Given the description of an element on the screen output the (x, y) to click on. 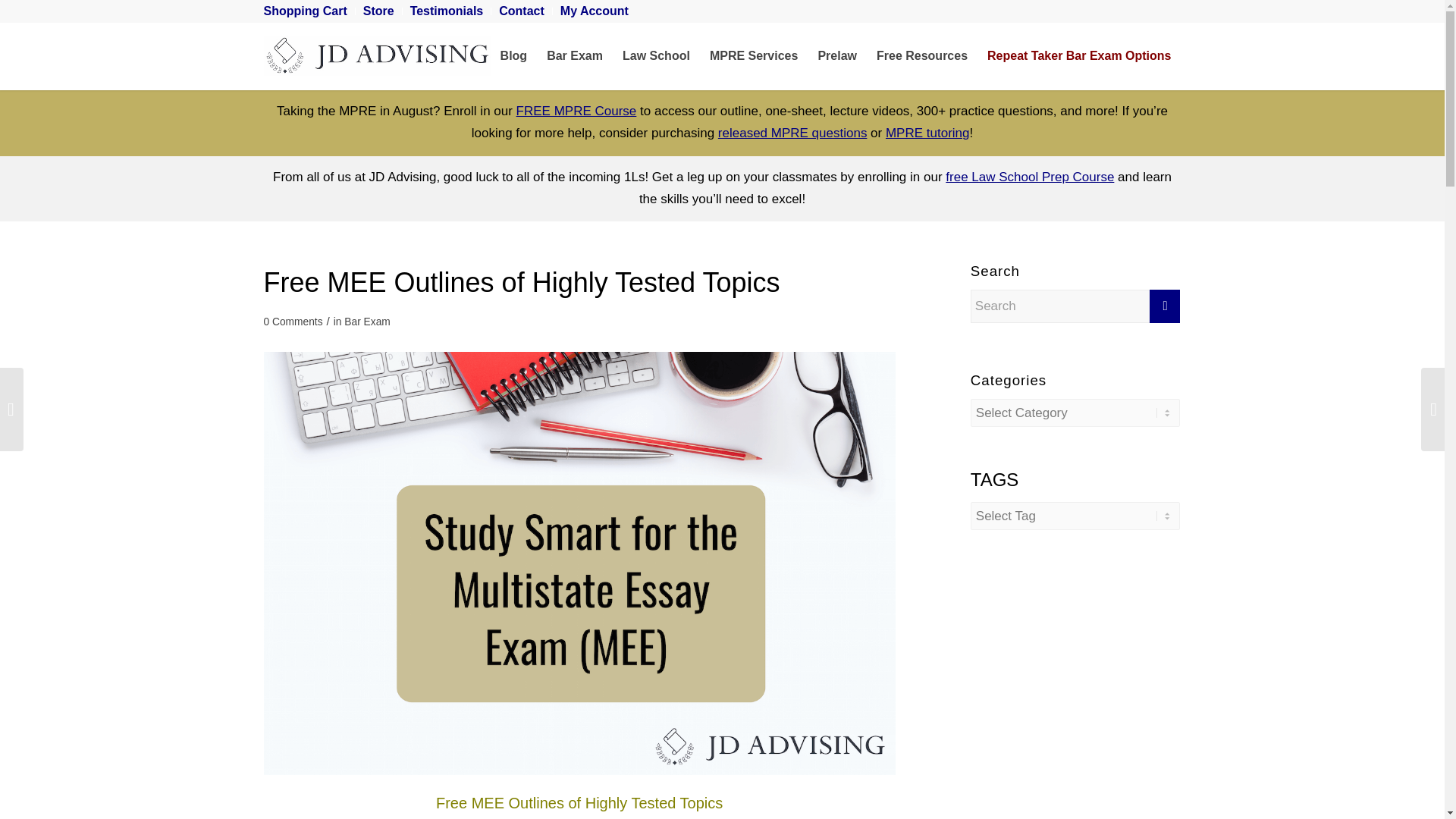
Contact (521, 11)
Store (378, 11)
Shopping Cart (305, 11)
Testimonials (446, 11)
My Account (594, 11)
Click to start search (1164, 305)
Bar Exam (574, 56)
